Given the description of an element on the screen output the (x, y) to click on. 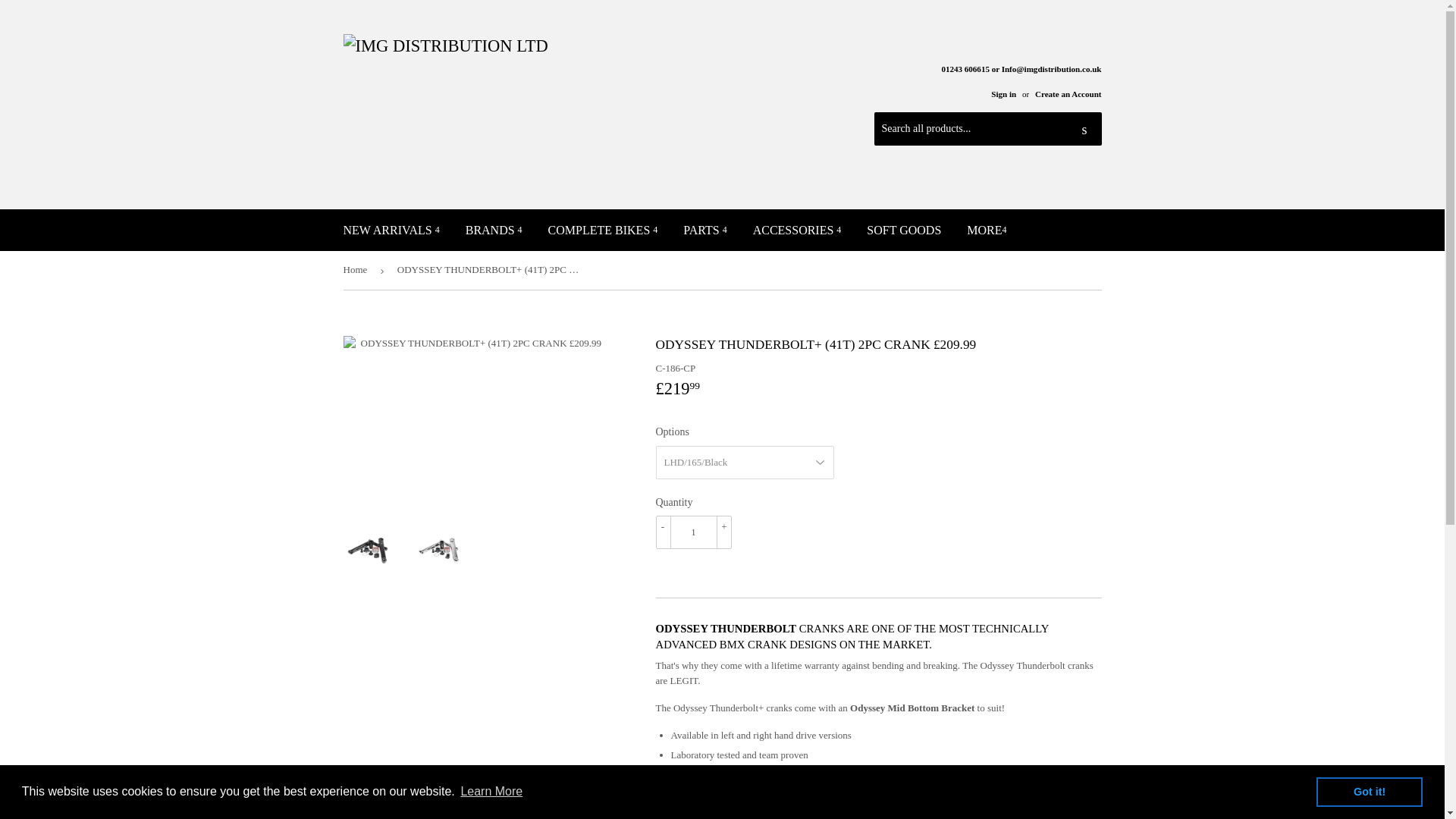
Got it! (1369, 791)
Learn More (491, 791)
Sign in (1003, 93)
Create an Account (1068, 93)
1 (692, 531)
Search (1084, 129)
